Given the description of an element on the screen output the (x, y) to click on. 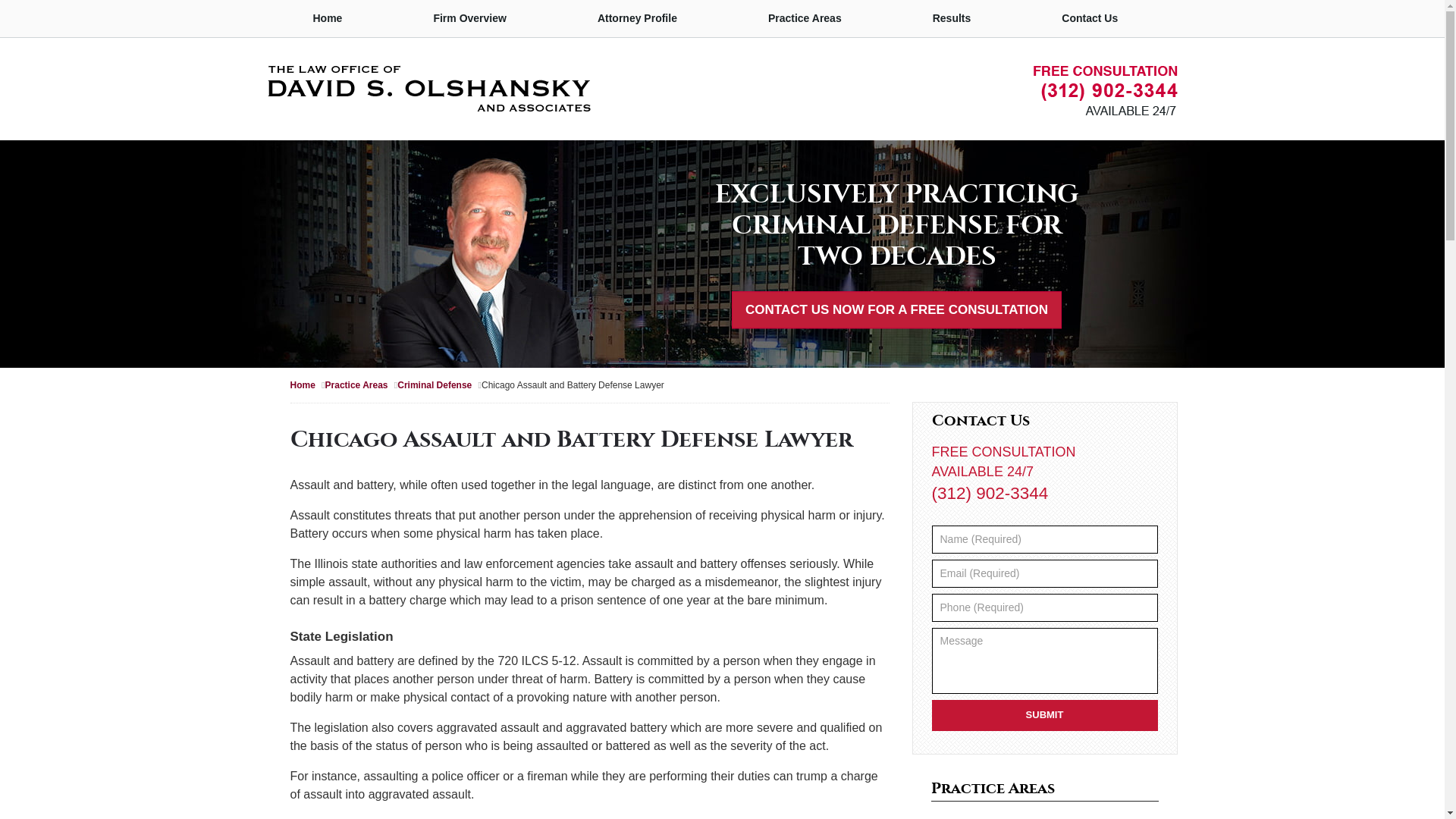
Results Element type: text (951, 18)
Practice Areas Element type: text (1044, 790)
Contact Us Element type: text (1044, 422)
SUBMIT Element type: text (1044, 715)
Contact Us Element type: text (1089, 18)
Firm Overview Element type: text (469, 18)
CONTACT US NOW FOR A FREE CONSULTATION Element type: text (896, 310)
Practice Areas Element type: text (361, 385)
The Law Offices of David S. Olshansky & Associates Home Element type: text (427, 88)
Contact The Law Offices of David S. Olshansky & Associates Element type: text (1104, 90)
Criminal Defense Element type: text (439, 385)
Practice Areas Element type: text (804, 18)
Home Element type: text (306, 385)
Home Element type: text (326, 18)
Attorney Profile Element type: text (637, 18)
